Given the description of an element on the screen output the (x, y) to click on. 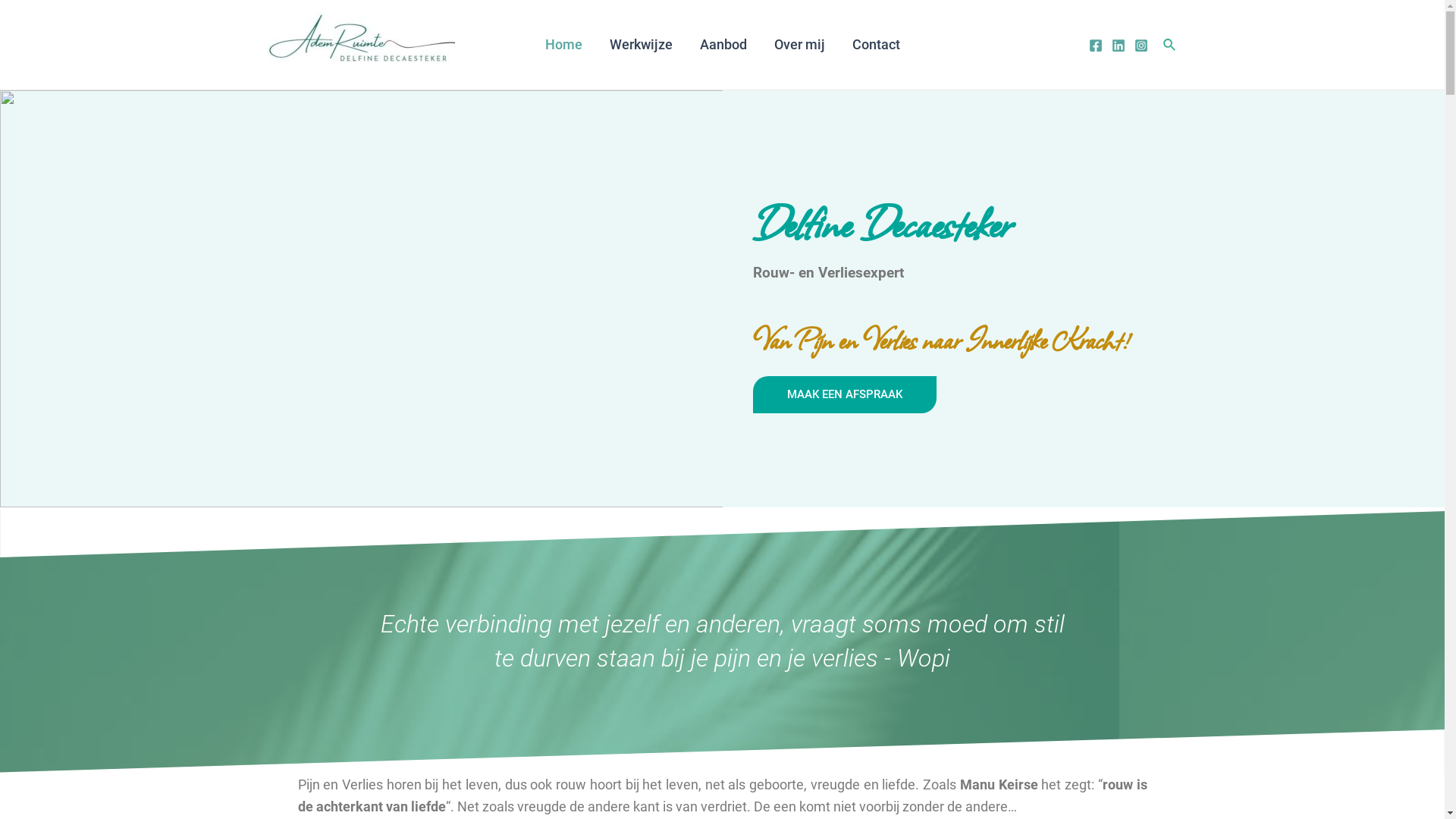
Werkwijze Element type: text (641, 44)
Contact Element type: text (875, 44)
MAAK EEN AFSPRAAK Element type: text (843, 394)
Over mij Element type: text (798, 44)
Aanbod Element type: text (722, 44)
Home Element type: text (562, 44)
